Given the description of an element on the screen output the (x, y) to click on. 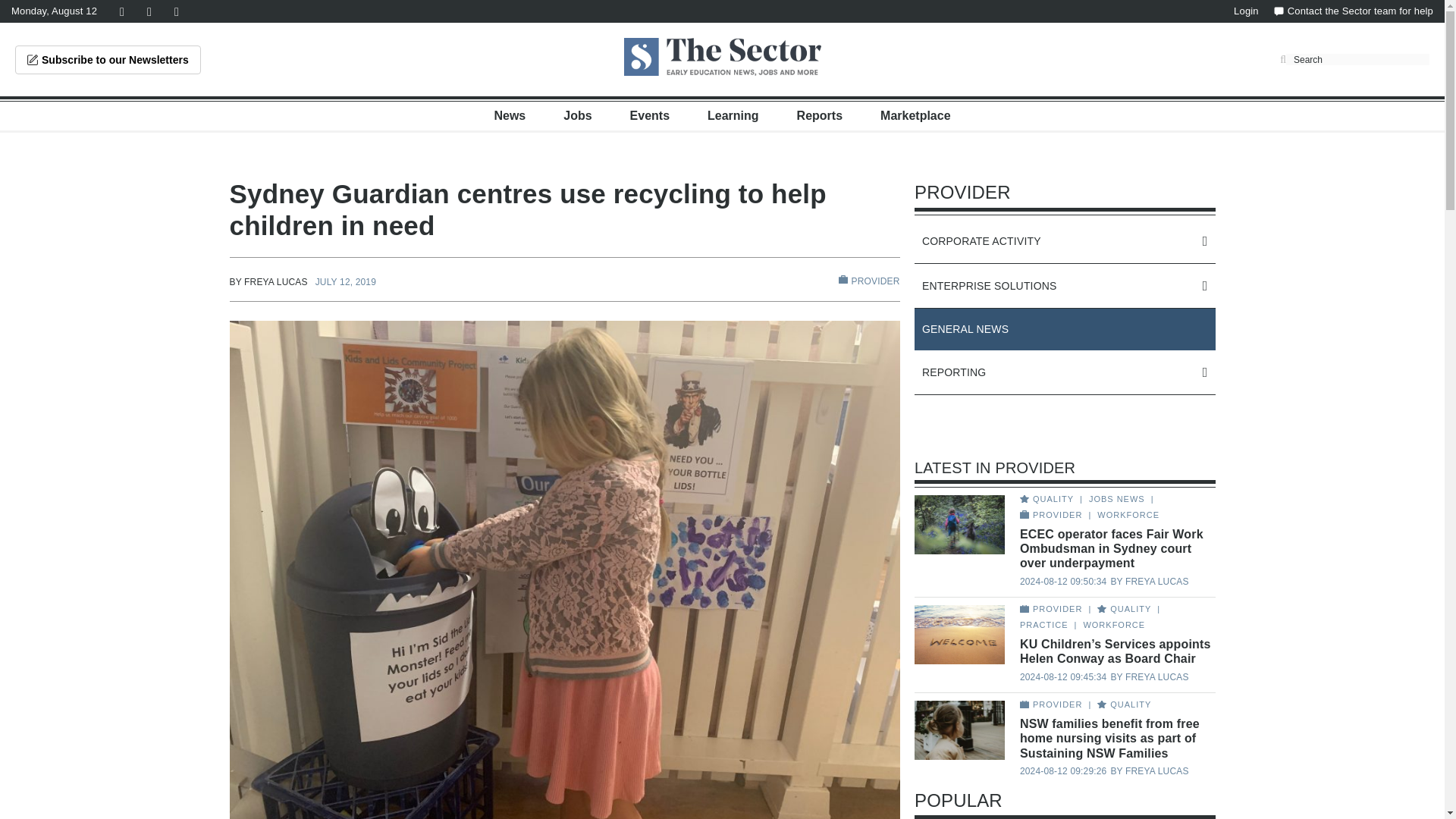
Marketplace (915, 115)
FILL 11 COPY 7 CREATED WITH SKETCH. PROVIDER (868, 280)
News (509, 115)
Login (1246, 11)
FILL 11 COPY 7 CREATED WITH SKETCH. (842, 279)
Reports (819, 115)
Contact the Sector team for help (1353, 11)
Learning (732, 115)
Events (649, 115)
Jobs (577, 115)
